Given the description of an element on the screen output the (x, y) to click on. 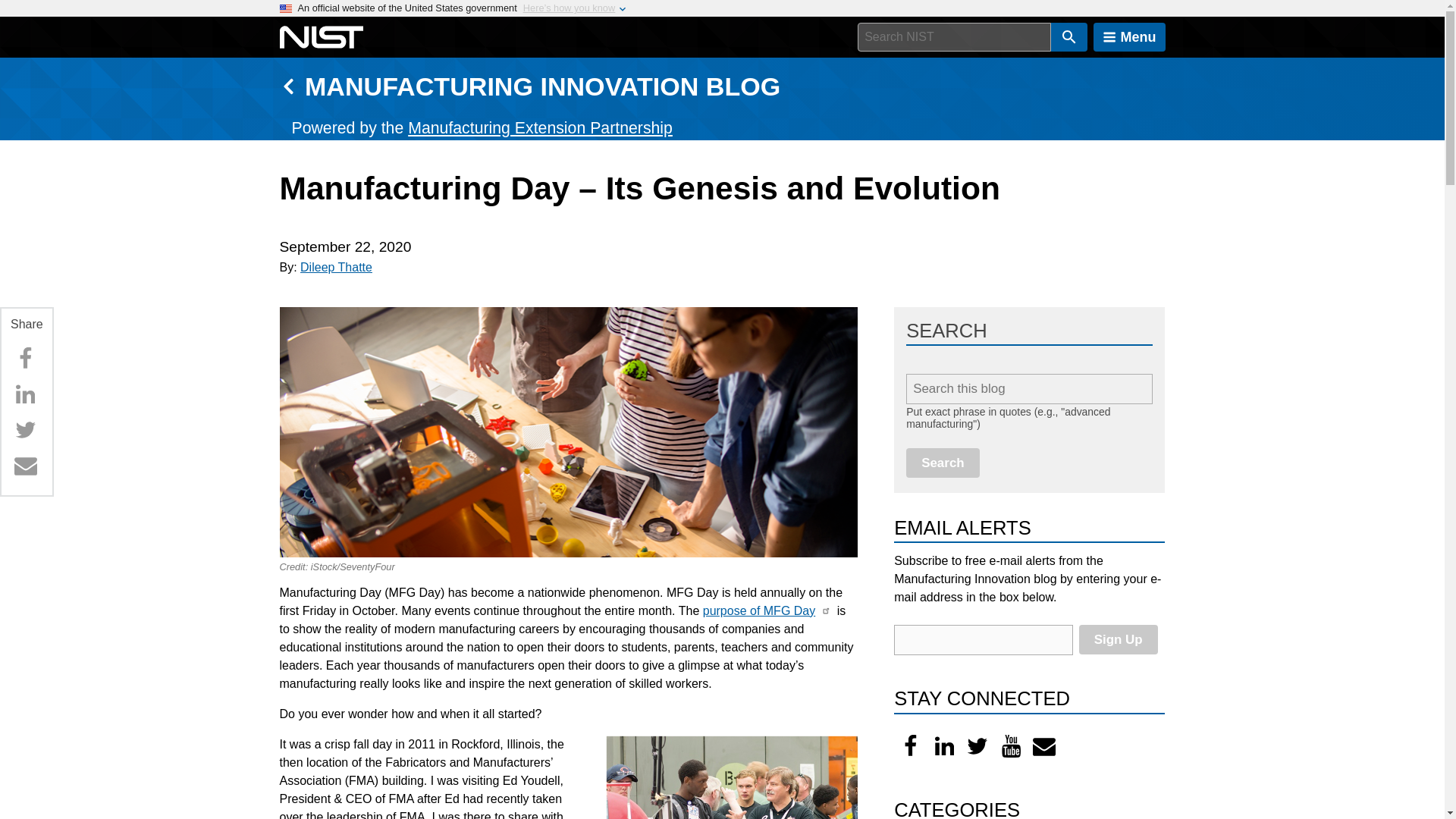
MANUFACTURING INNOVATION BLOG (542, 86)
Linkedin (25, 394)
Youtube (1010, 745)
Twitter (25, 429)
GovDelivery (1044, 745)
email (983, 639)
Dileep Thatte (335, 267)
Search (942, 462)
National Institute of Standards and Technology (320, 36)
purpose of MFG Day (759, 610)
